Given the description of an element on the screen output the (x, y) to click on. 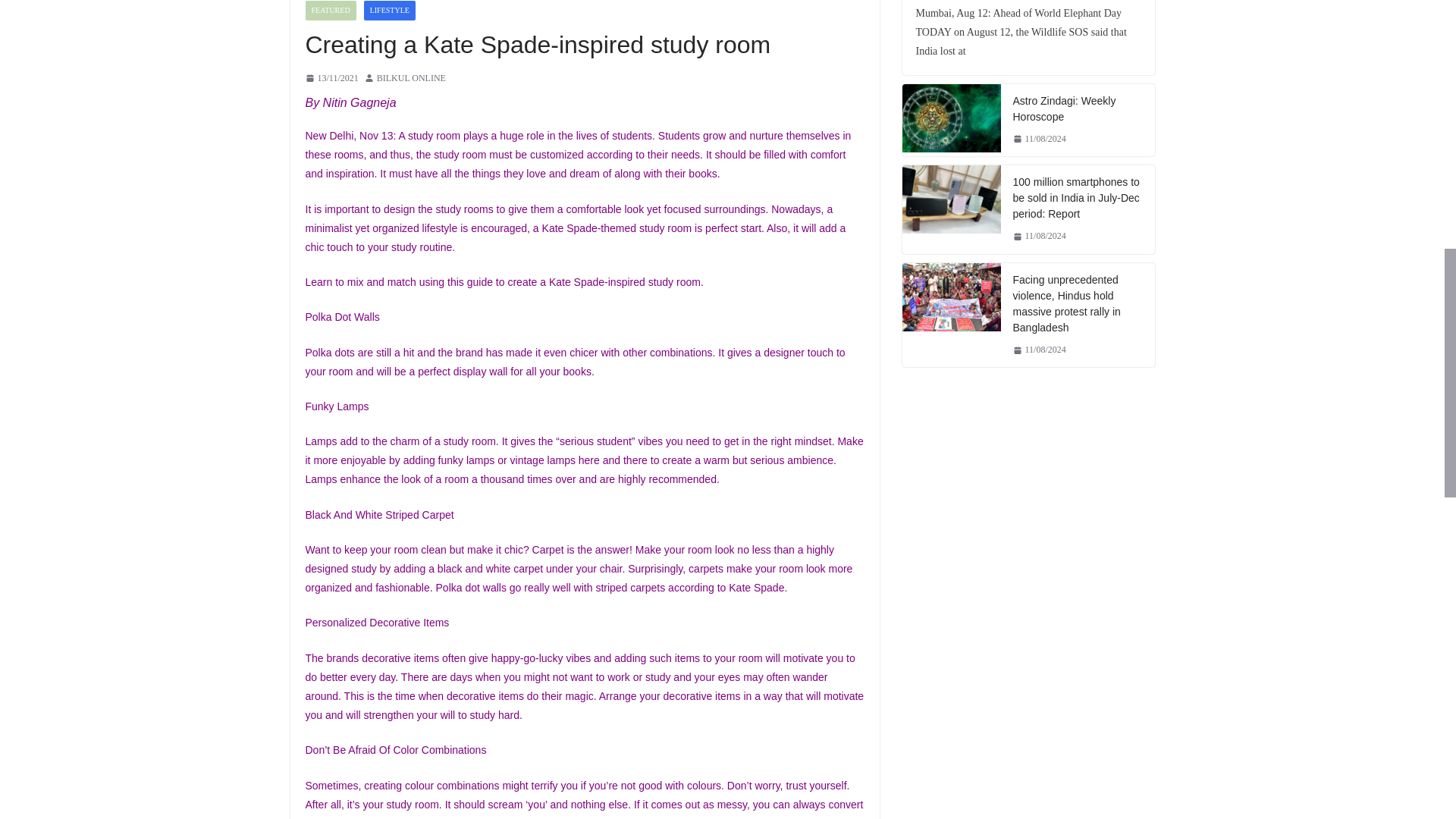
BILKUL ONLINE (411, 78)
2:18 pm (331, 78)
FEATURED (329, 10)
LIFESTYLE (389, 10)
BILKUL ONLINE (411, 78)
